Given the description of an element on the screen output the (x, y) to click on. 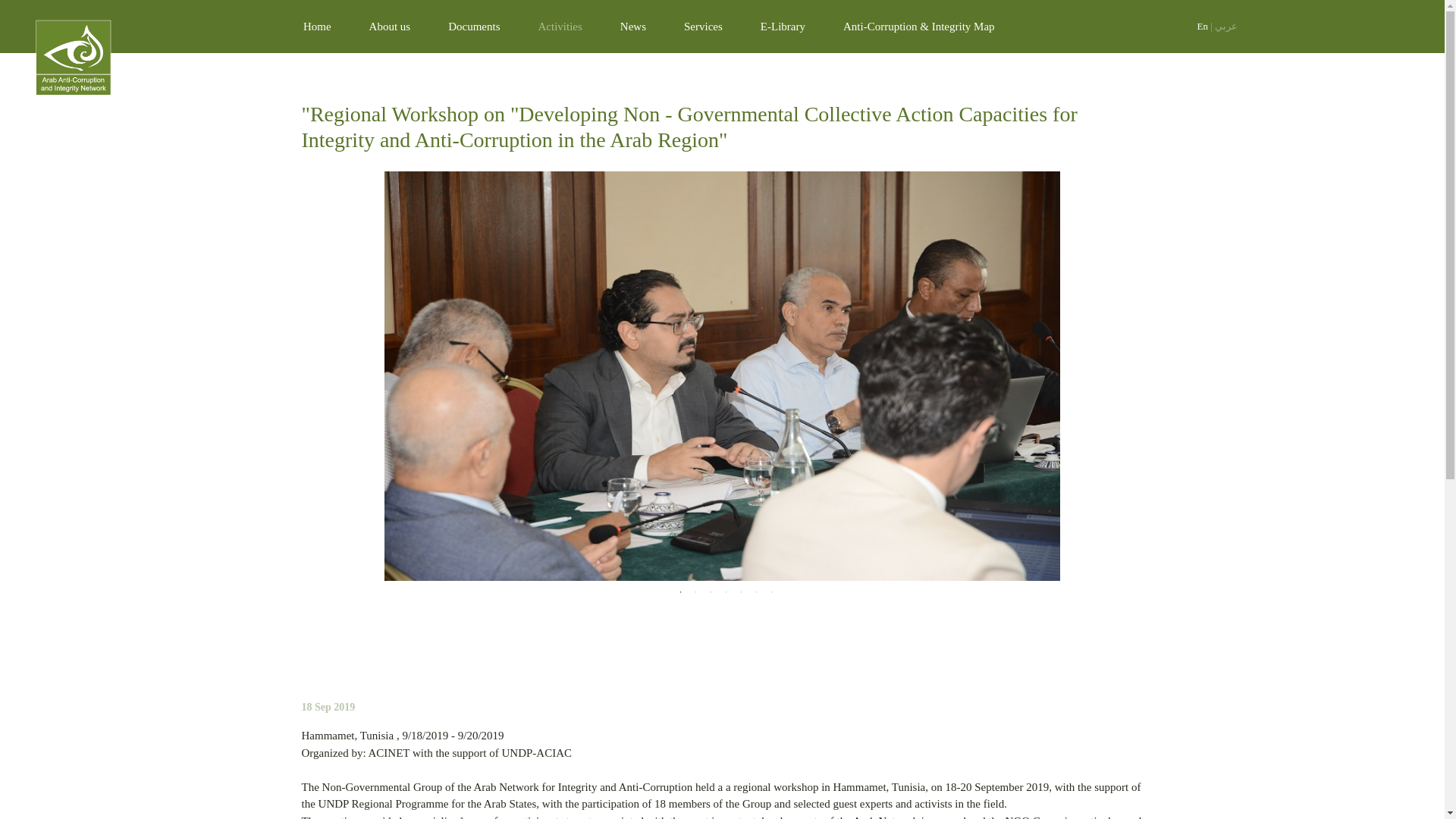
Home (316, 26)
Services (703, 26)
Documents (473, 26)
E-Library (782, 26)
News (633, 26)
En (1201, 25)
Activities (560, 26)
About us (389, 26)
